Given the description of an element on the screen output the (x, y) to click on. 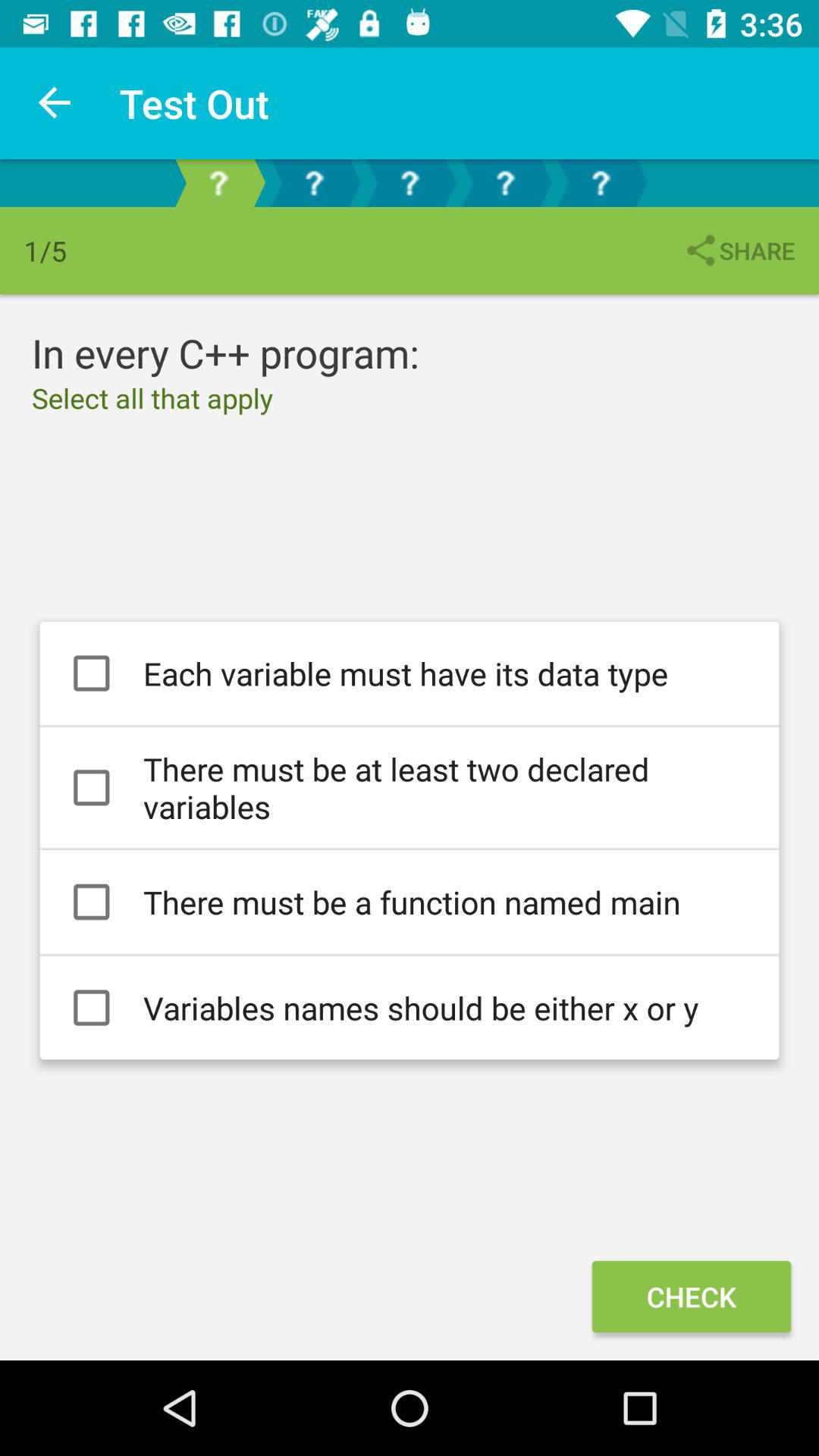
open icon below variables names should (691, 1296)
